Given the description of an element on the screen output the (x, y) to click on. 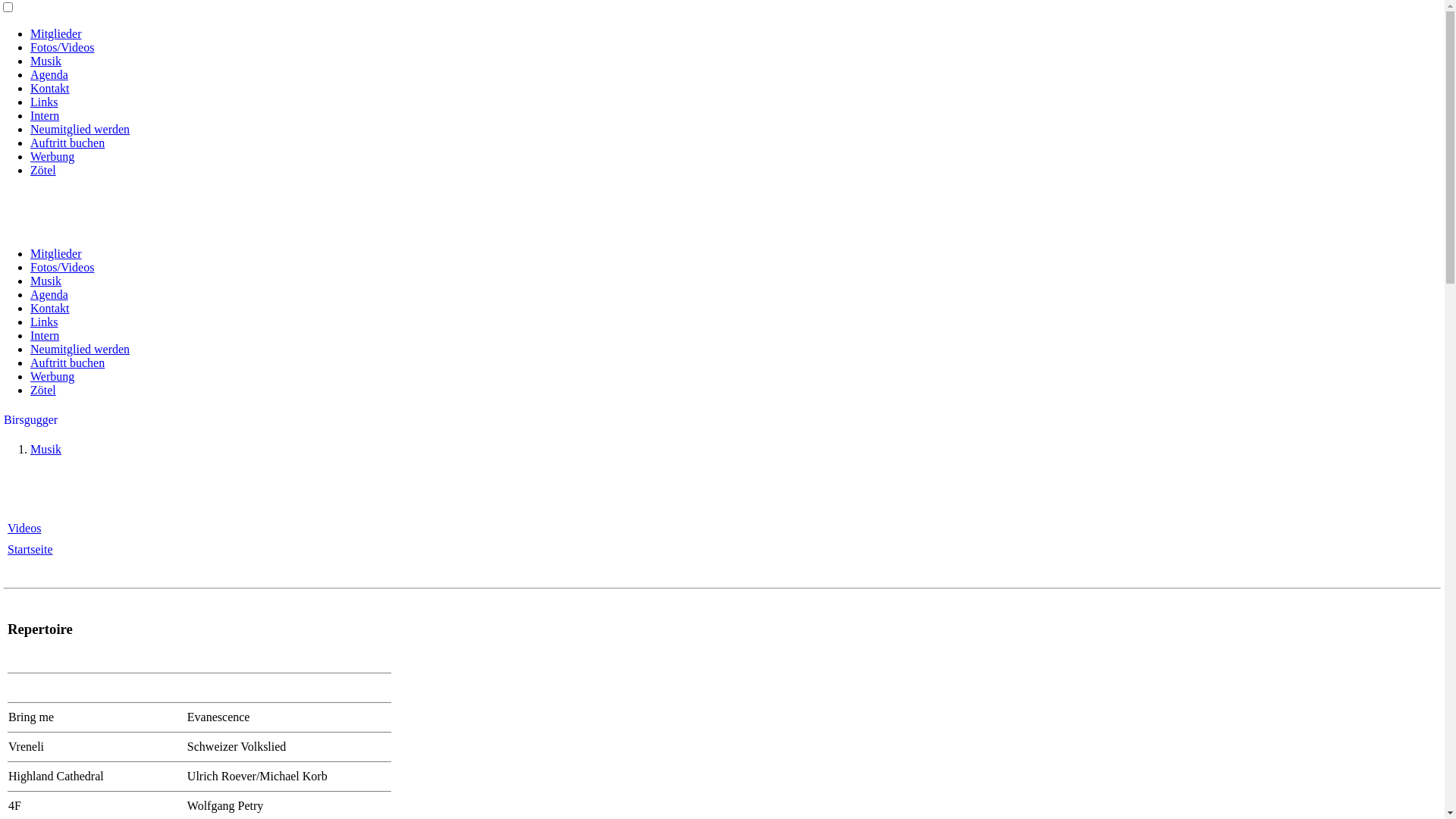
Links Element type: text (43, 321)
Neumitglied werden Element type: text (79, 128)
Werbung Element type: text (52, 156)
Birsgugger Element type: text (30, 419)
Musik Element type: text (45, 448)
Mitglieder Element type: text (55, 253)
Videos Element type: text (23, 527)
Mitglieder Element type: text (55, 33)
Neumitglied werden Element type: text (79, 348)
Auftritt buchen Element type: text (67, 142)
Kontakt Element type: text (49, 307)
Fotos/Videos Element type: text (62, 46)
Links Element type: text (43, 101)
Intern Element type: text (44, 115)
Werbung Element type: text (52, 376)
Musik Element type: text (45, 280)
Fotos/Videos Element type: text (62, 266)
Musik Element type: text (45, 60)
Kontakt Element type: text (49, 87)
Auftritt buchen Element type: text (67, 362)
Agenda Element type: text (49, 294)
Agenda Element type: text (49, 74)
Intern Element type: text (44, 335)
Startseite Element type: text (30, 548)
